Given the description of an element on the screen output the (x, y) to click on. 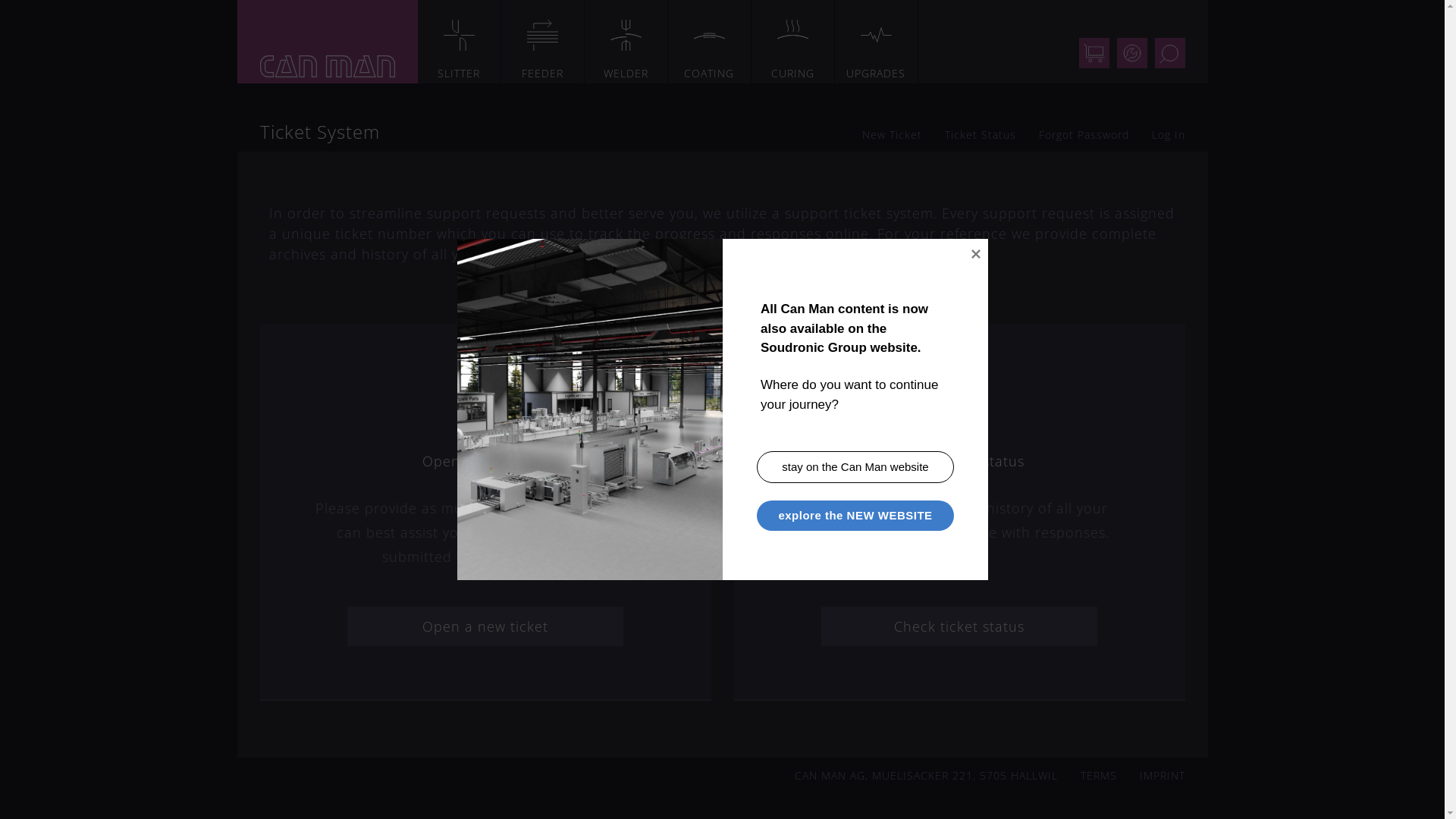
WELDER Element type: text (625, 41)
Search Element type: text (1169, 52)
TERMS Element type: text (1097, 775)
Support Element type: text (1131, 52)
UPGRADES Element type: text (875, 41)
CAN MAN AG, MUELISACKER 221, 5705 HALLWIL Element type: text (925, 775)
stay on the Can Man website Element type: text (854, 466)
New Ticket Element type: text (891, 134)
Log In Element type: text (1167, 134)
Forgot Password Element type: text (1083, 134)
FEEDER Element type: text (541, 41)
COATING Element type: text (708, 41)
IMPRINT Element type: text (1161, 775)
Check ticket status Element type: text (959, 626)
SLITTER Element type: text (458, 41)
Ticket Status Element type: text (980, 134)
Shop Element type: text (1093, 52)
CURING Element type: text (792, 41)
Open a new ticket Element type: text (485, 626)
explore the NEW WEBSITE Element type: text (854, 515)
